Given the description of an element on the screen output the (x, y) to click on. 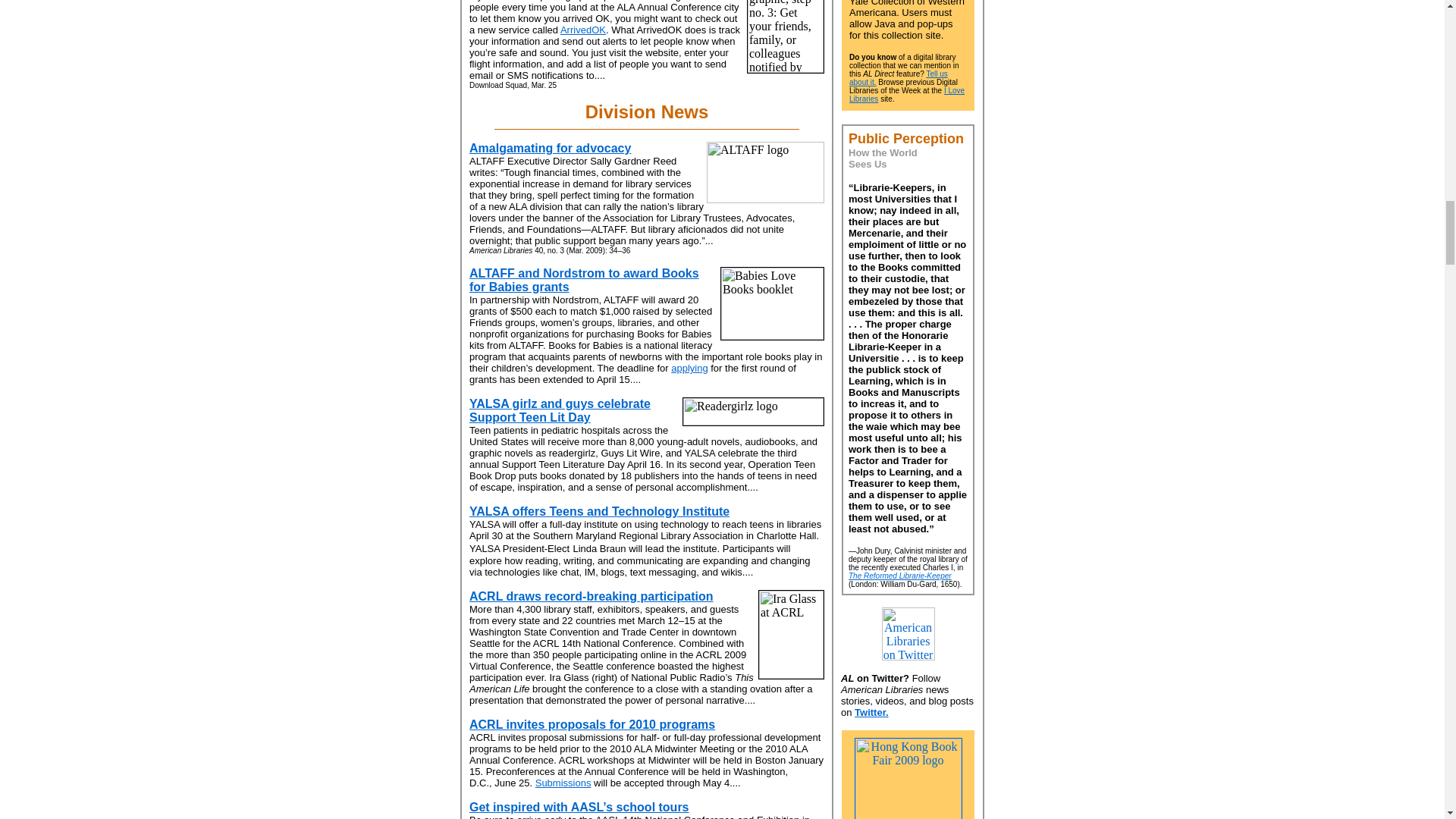
Babies Love Books booklet (772, 303)
Readergirlz logo (753, 411)
ALTAFF logo (765, 172)
